Given the description of an element on the screen output the (x, y) to click on. 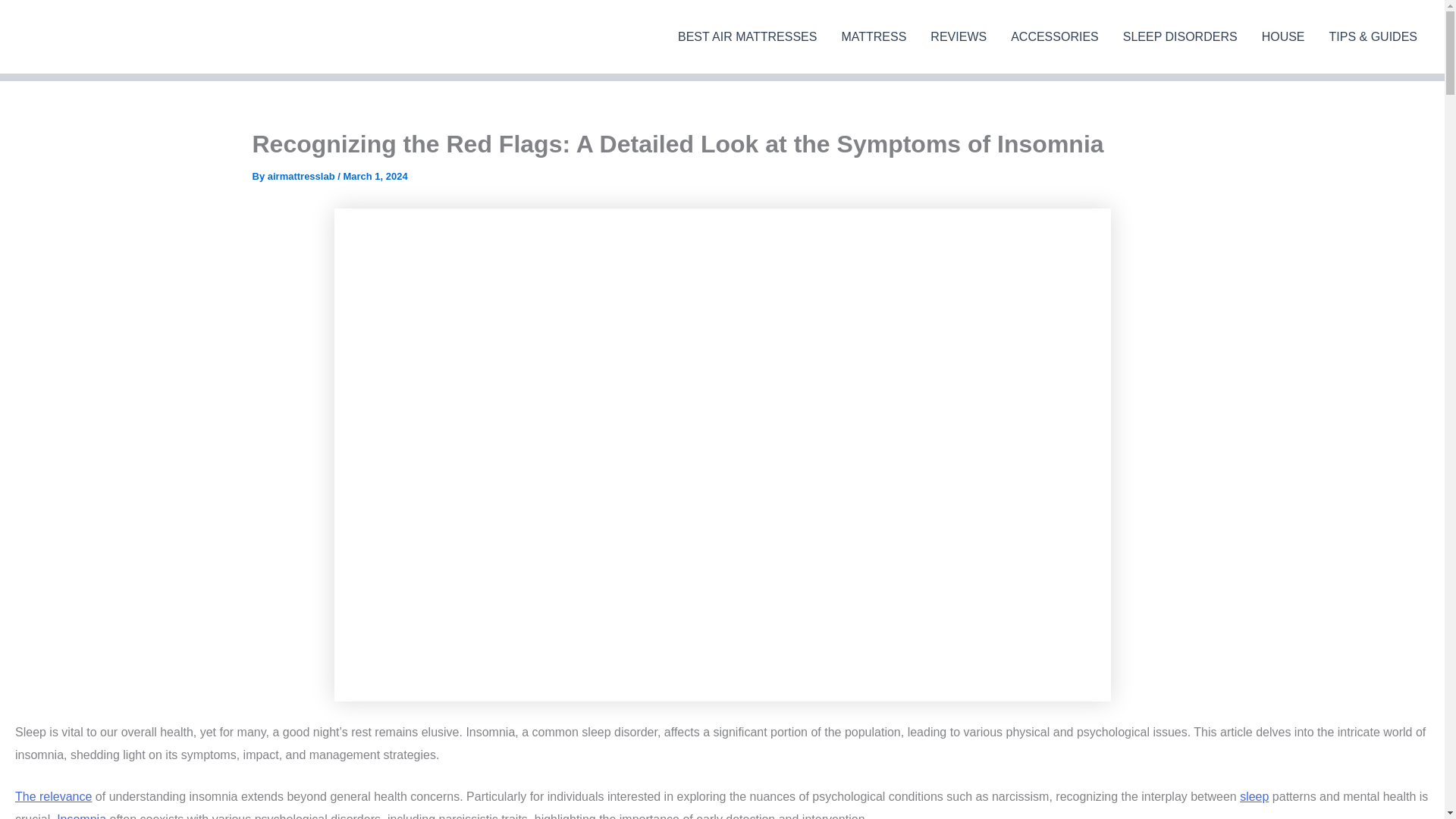
REVIEWS (958, 35)
The relevance (52, 796)
Insomnia (81, 816)
BEST AIR MATTRESSES (746, 35)
Insomnia (81, 816)
sleep (1254, 796)
SLEEP DISORDERS (1179, 35)
MATTRESS (873, 35)
airmattresslab (302, 175)
View all posts by airmattresslab (302, 175)
